Given the description of an element on the screen output the (x, y) to click on. 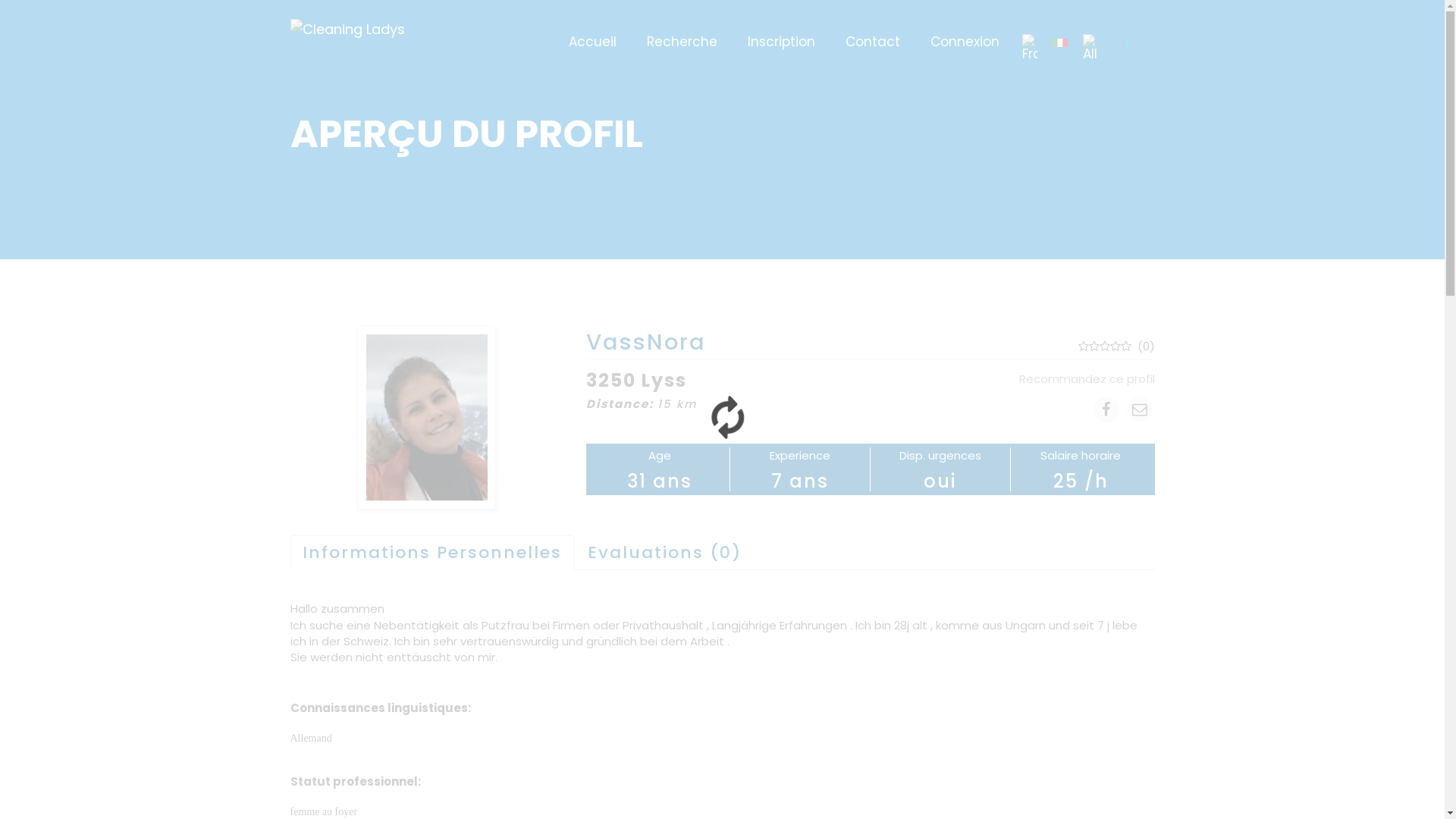
Inscription Element type: text (781, 30)
Evaluations (0) Element type: text (663, 552)
Contact Element type: text (871, 30)
Informations Personnelles Element type: text (431, 552)
Connexion Element type: text (964, 30)
Accueil Element type: text (592, 30)
Recherche Element type: text (681, 30)
